Given the description of an element on the screen output the (x, y) to click on. 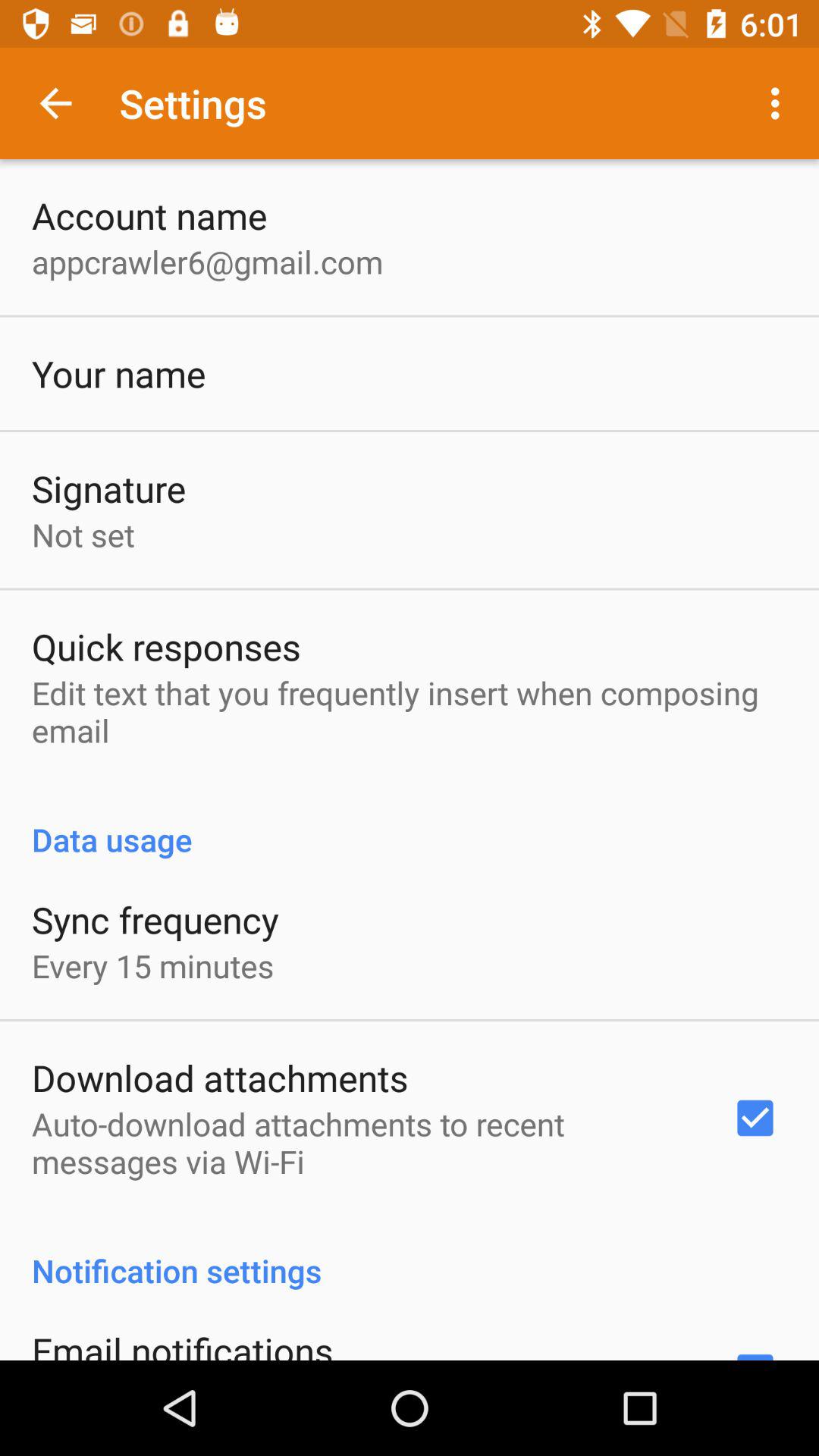
flip until the edit text that app (409, 711)
